Given the description of an element on the screen output the (x, y) to click on. 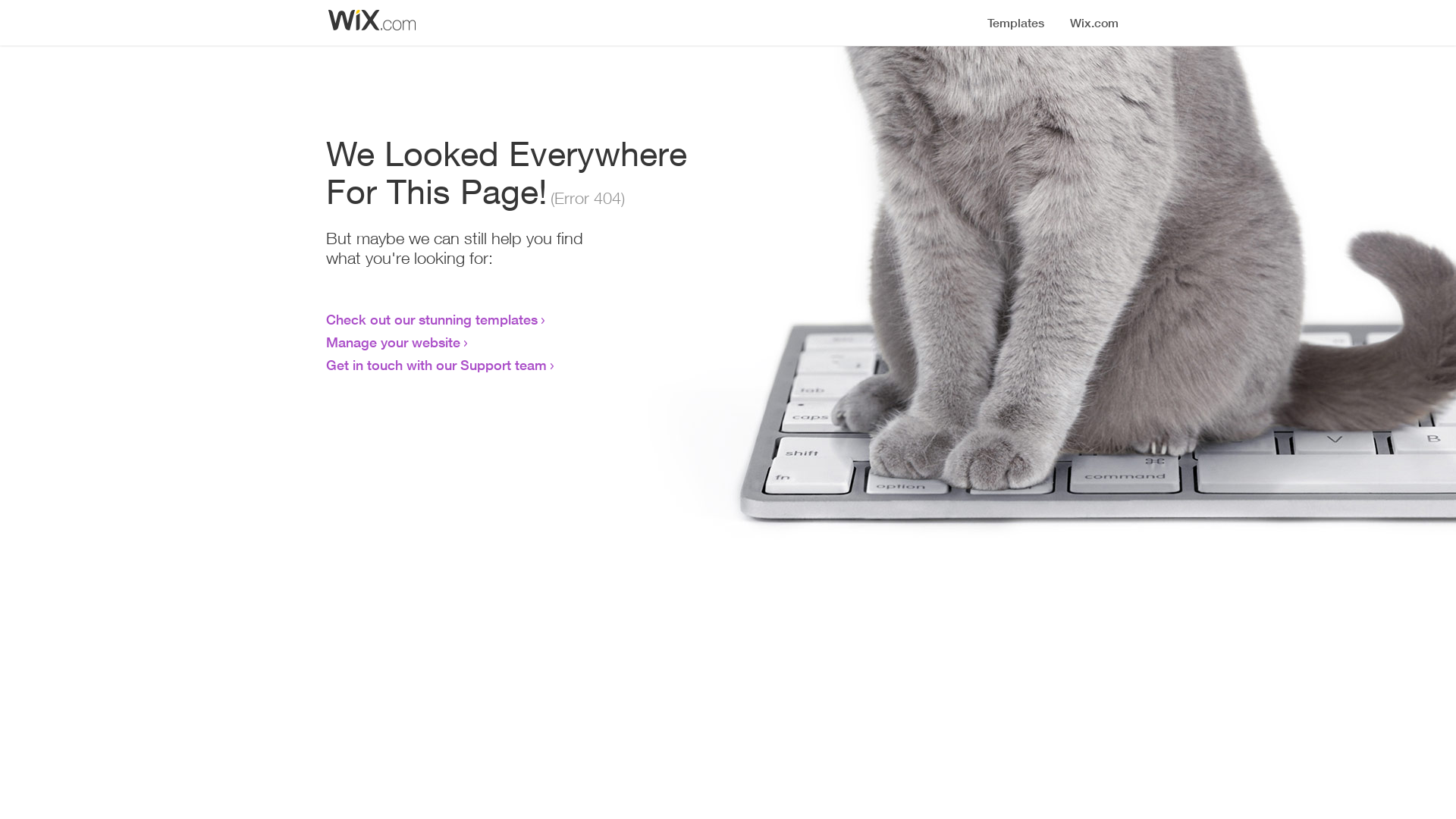
Get in touch with our Support team Element type: text (436, 364)
Manage your website Element type: text (393, 341)
Check out our stunning templates Element type: text (431, 318)
